Given the description of an element on the screen output the (x, y) to click on. 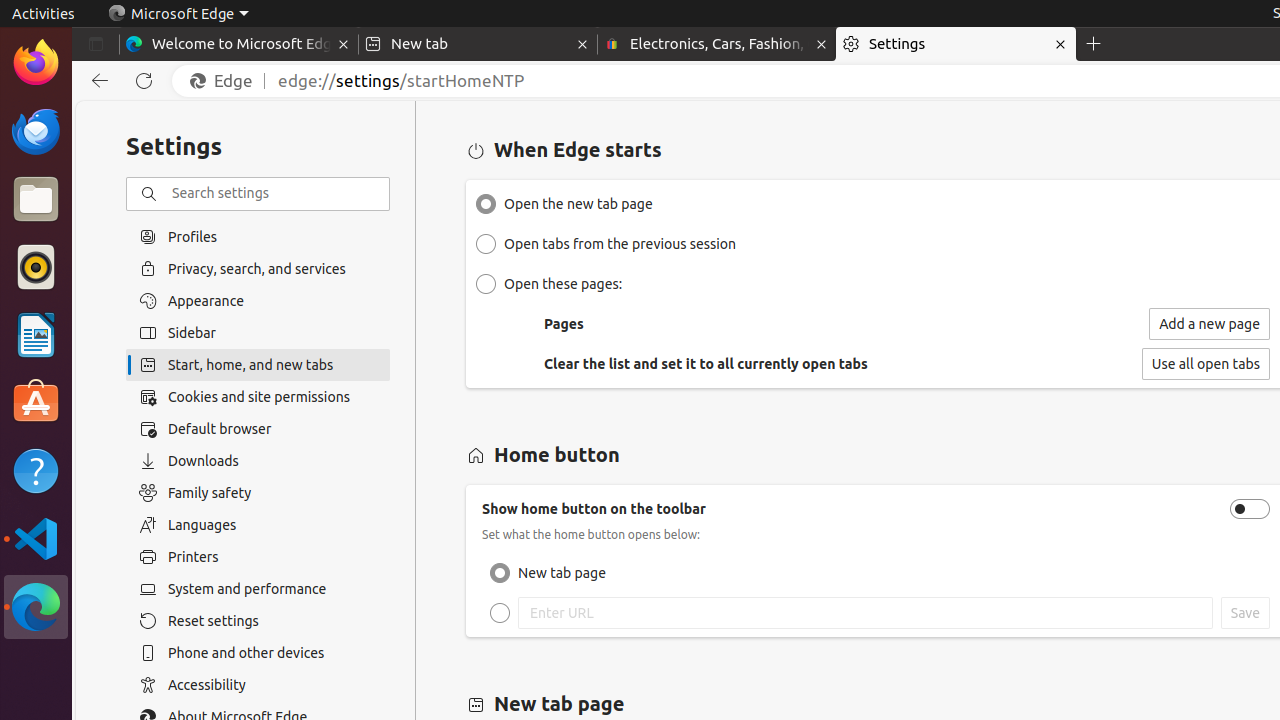
Privacy, search, and services Element type: tree-item (258, 268)
Open the new tab page Element type: radio-button (486, 204)
Family safety Element type: tree-item (258, 493)
Visual Studio Code Element type: push-button (36, 538)
Profiles Element type: tree-item (258, 236)
